Given the description of an element on the screen output the (x, y) to click on. 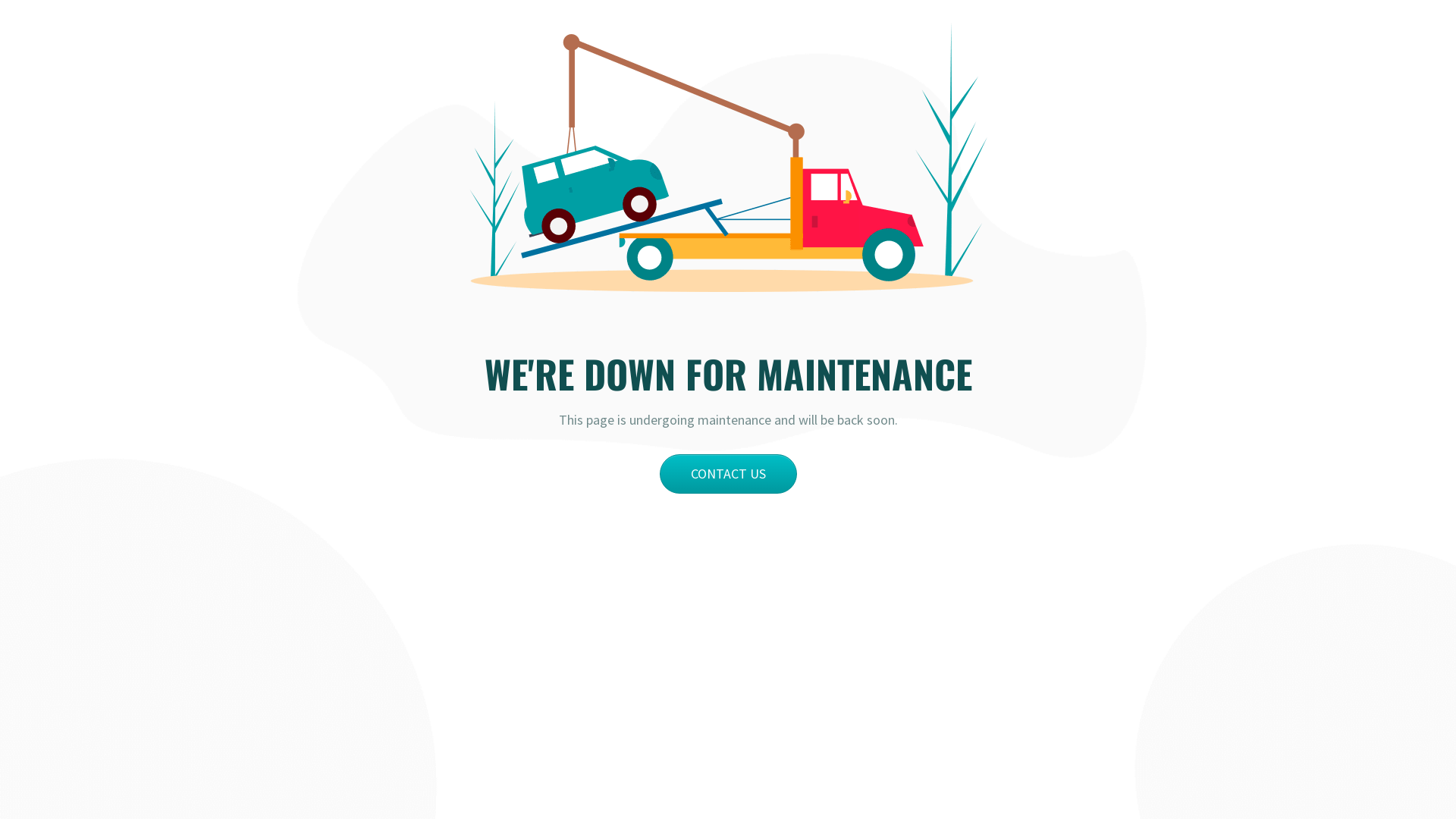
CONTACT US Element type: text (728, 473)
